Given the description of an element on the screen output the (x, y) to click on. 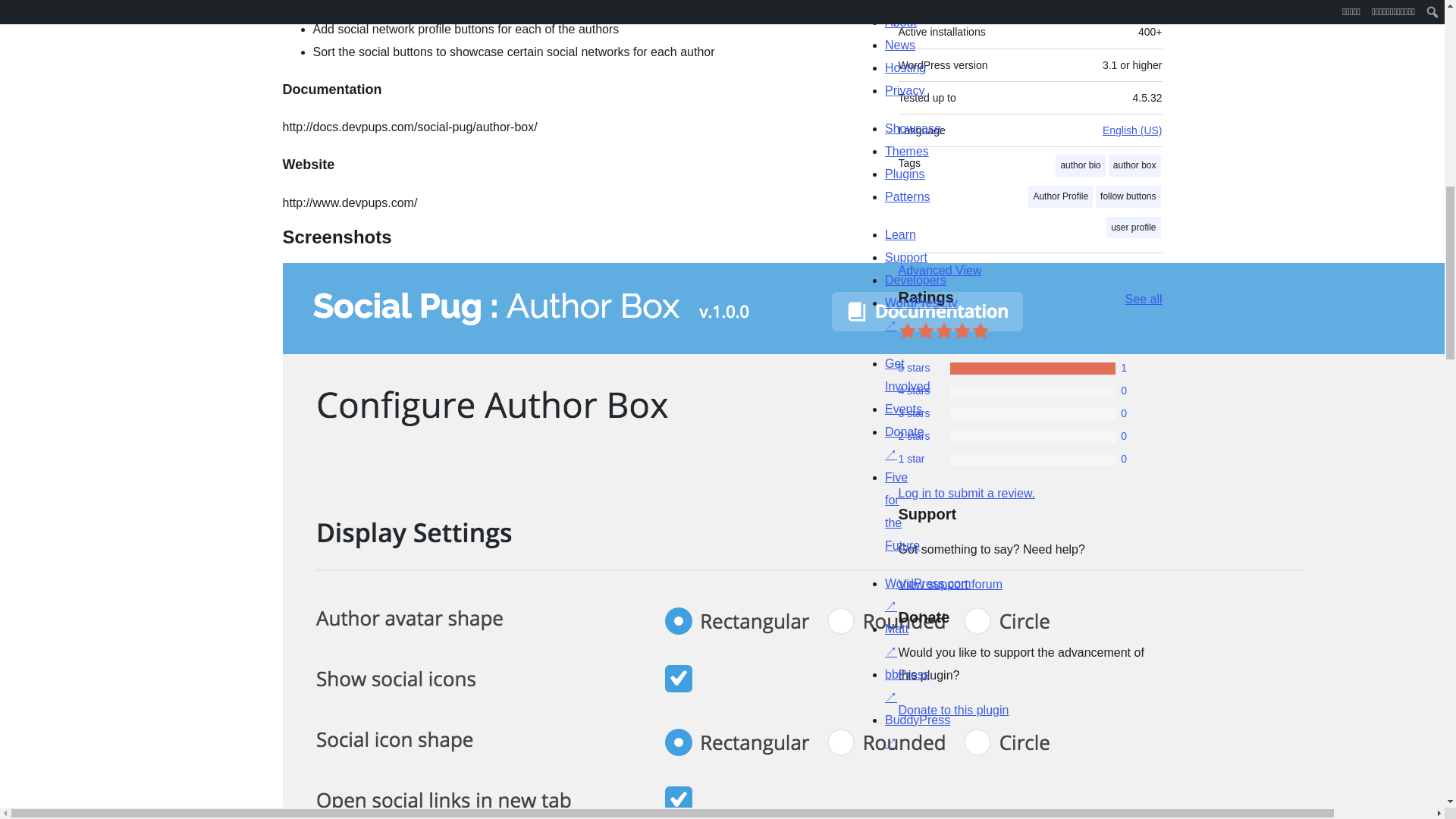
WordPress.org (864, 773)
Log in to WordPress.org (966, 492)
WordPress.org (1014, 773)
